Given the description of an element on the screen output the (x, y) to click on. 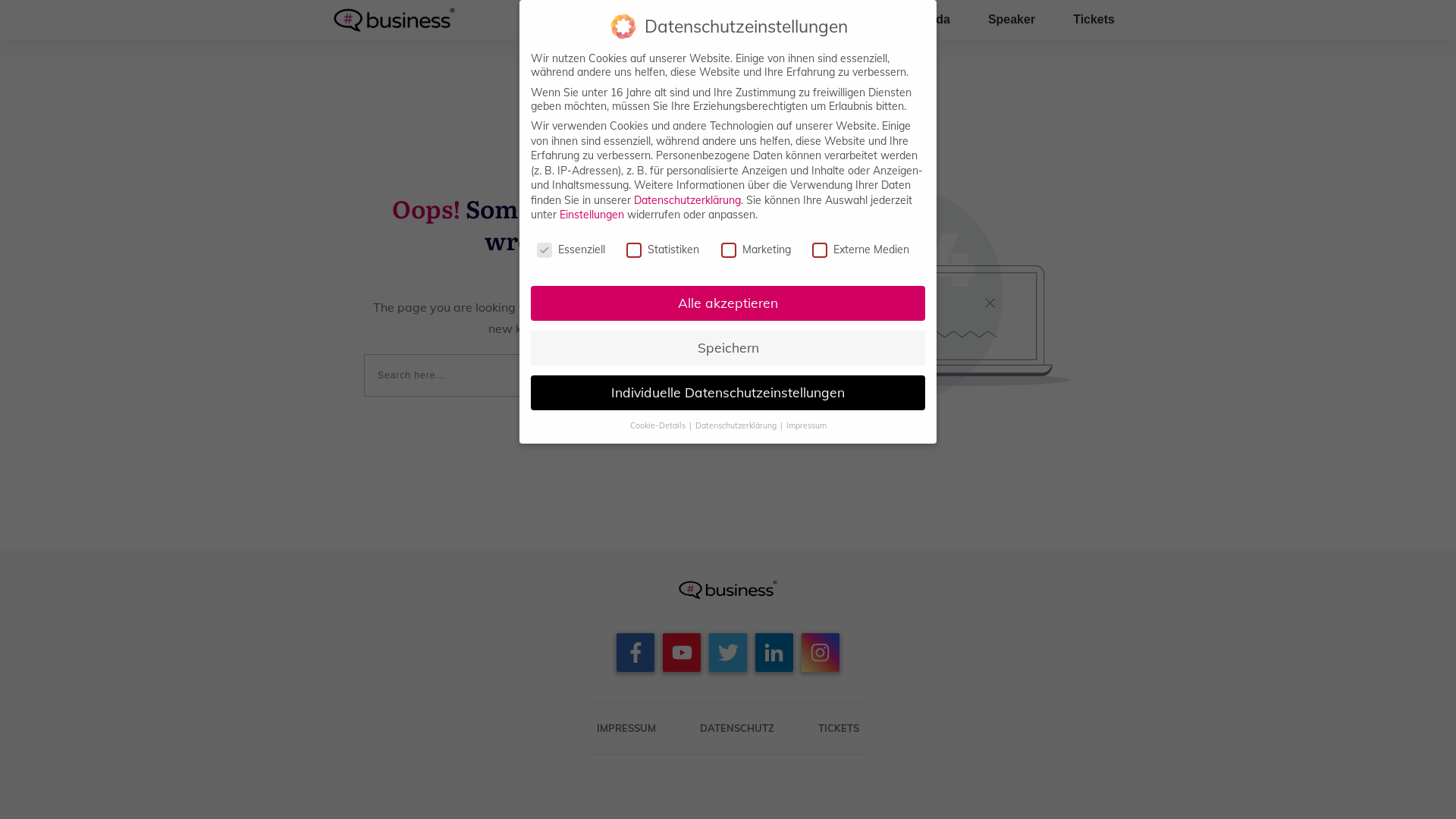
Individuelle Datenschutzeinstellungen Element type: text (727, 392)
Speaker Element type: text (1011, 19)
Cookie-Details Element type: text (658, 425)
DATENSCHUTZ Element type: text (736, 727)
TICKETS Element type: text (838, 727)
Tickets Element type: text (1093, 19)
Einstellungen Element type: text (591, 214)
404 Element type: hover (927, 294)
Alle akzeptieren Element type: text (727, 302)
IMPRESSUM Element type: text (625, 727)
Speichern Element type: text (727, 347)
Search Element type: text (644, 375)
Agenda Element type: text (927, 19)
Impressum Element type: text (805, 425)
